Given the description of an element on the screen output the (x, y) to click on. 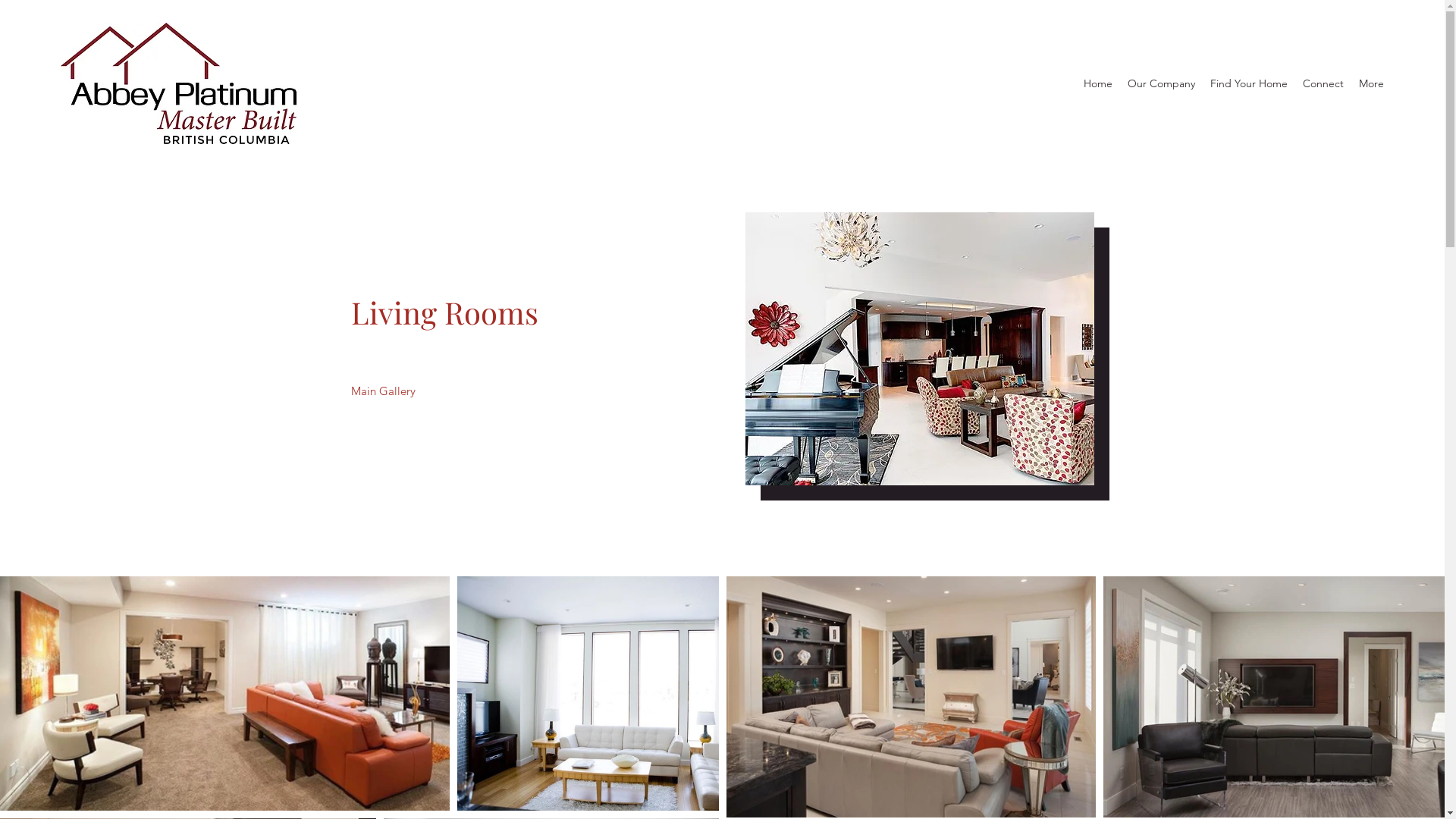
Find Your Home Element type: text (1248, 83)
Our Company Element type: text (1161, 83)
Home Element type: text (1098, 83)
Main Gallery Element type: text (382, 390)
Connect Element type: text (1323, 83)
